Given the description of an element on the screen output the (x, y) to click on. 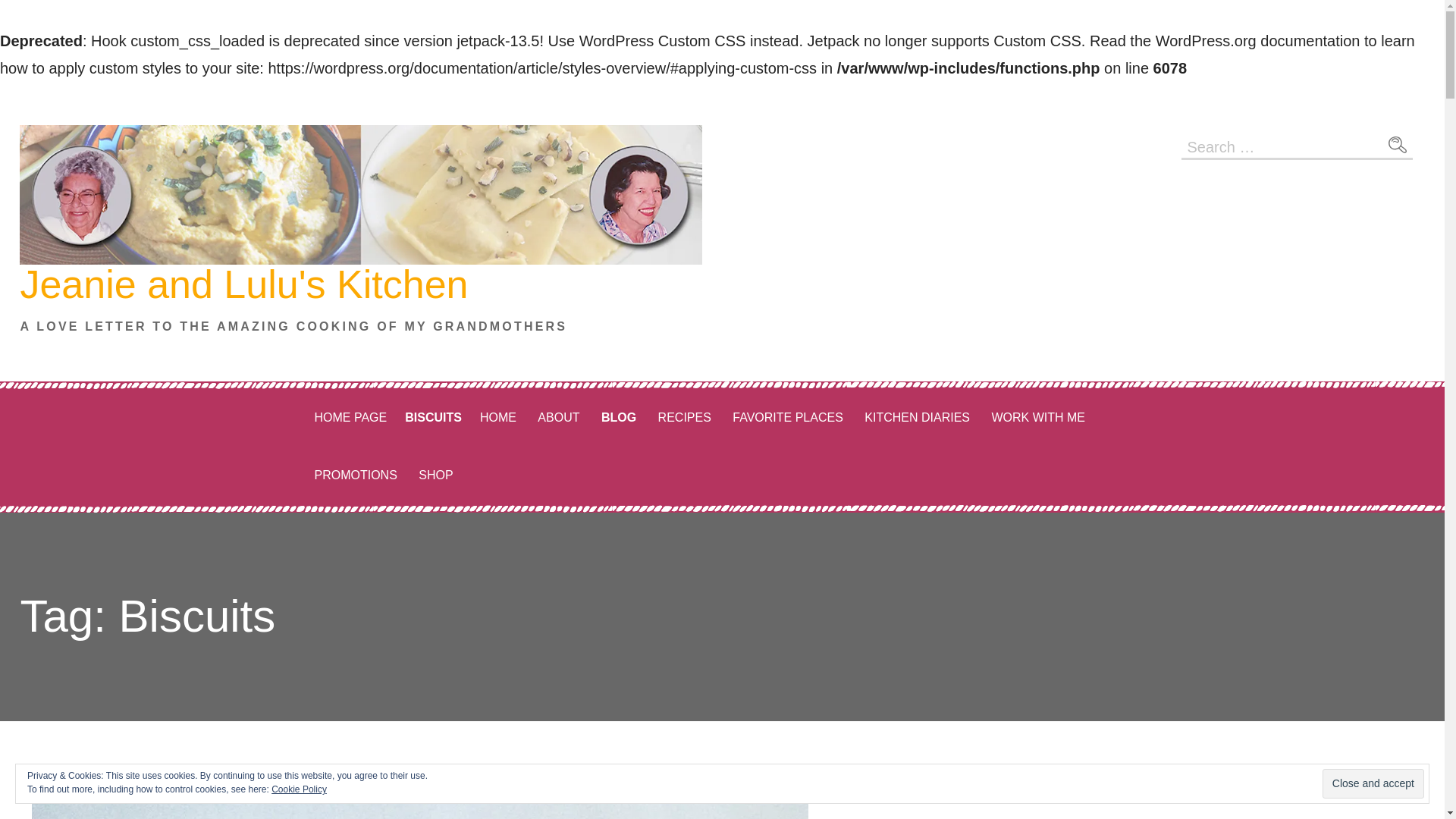
HOME (497, 417)
FAVORITE PLACES (787, 417)
BLOG (618, 417)
WORK WITH ME (1037, 417)
Close and accept (1372, 783)
Search (1396, 144)
ABOUT (558, 417)
Search (1396, 144)
BISCUITS (433, 417)
PROMOTIONS (355, 475)
KITCHEN DIARIES (917, 417)
HOME PAGE (350, 417)
SHOP (435, 475)
RECIPES (684, 417)
Search (1396, 144)
